Given the description of an element on the screen output the (x, y) to click on. 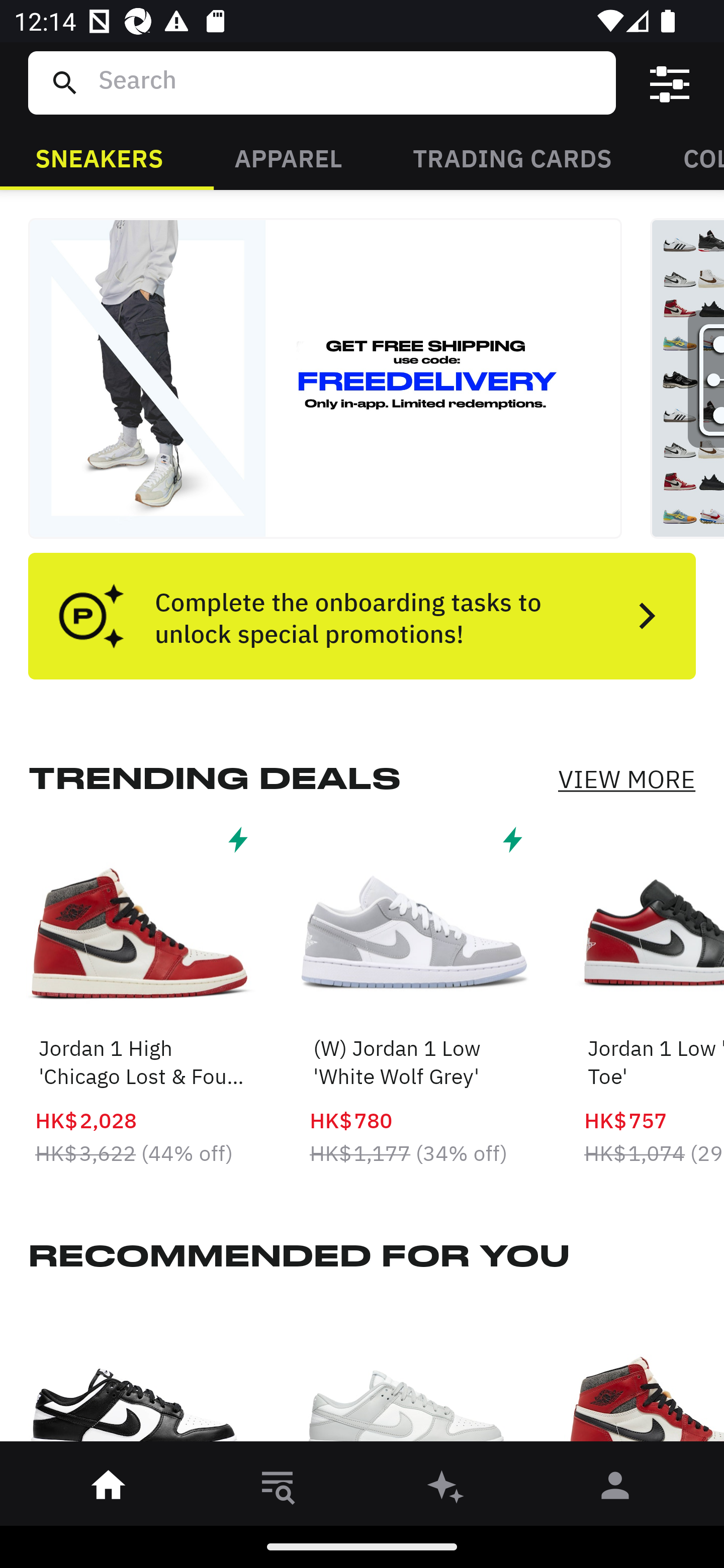
Search (349, 82)
 (669, 82)
SNEAKERS (99, 156)
APPAREL (287, 156)
TRADING CARDS (512, 156)
VIEW MORE (626, 779)
󰋜 (108, 1488)
󱎸 (277, 1488)
󰫢 (446, 1488)
󰀄 (615, 1488)
